Given the description of an element on the screen output the (x, y) to click on. 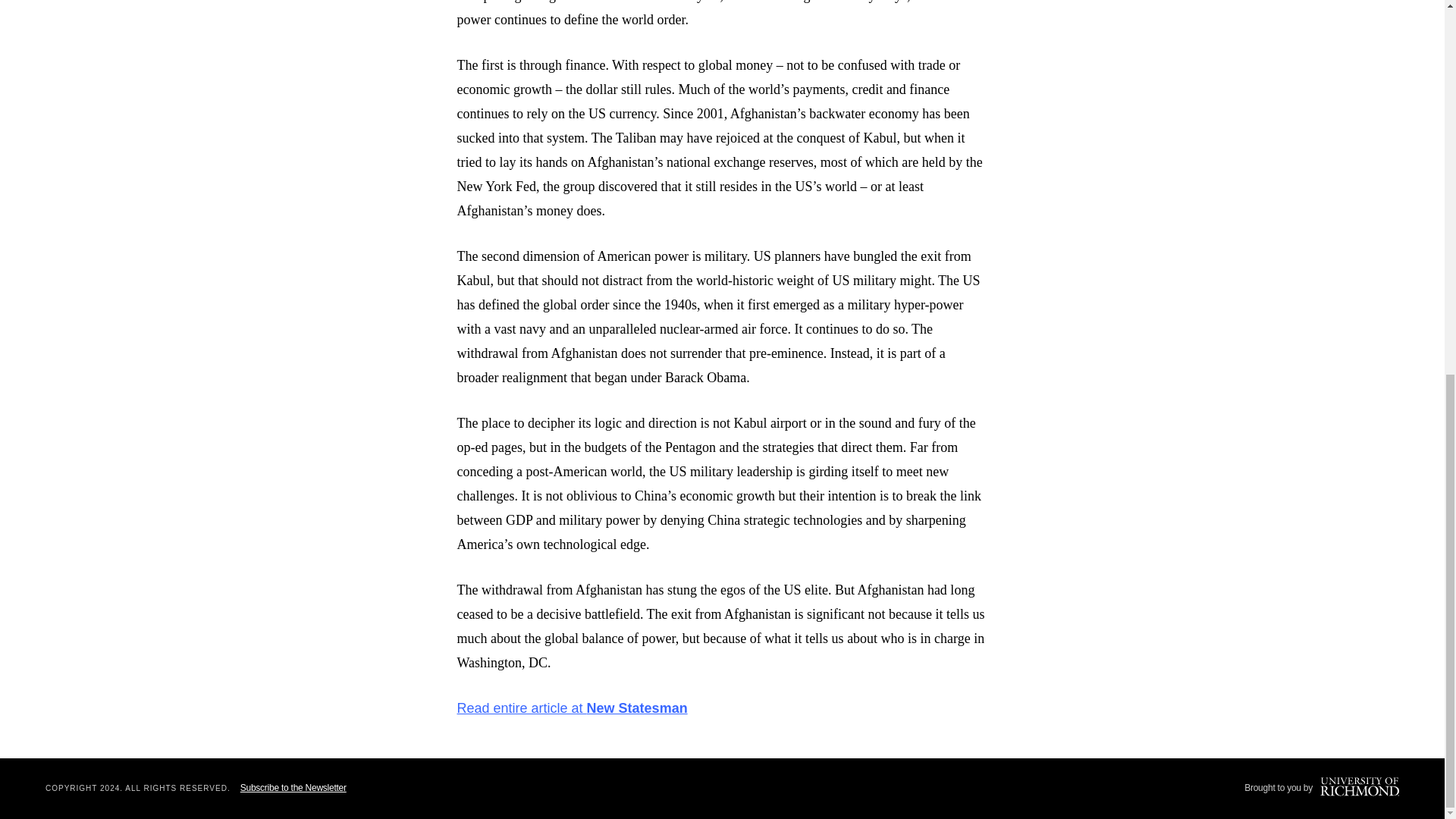
Read entire article at New Statesman (572, 708)
Subscribe to the Newsletter (293, 787)
